Given the description of an element on the screen output the (x, y) to click on. 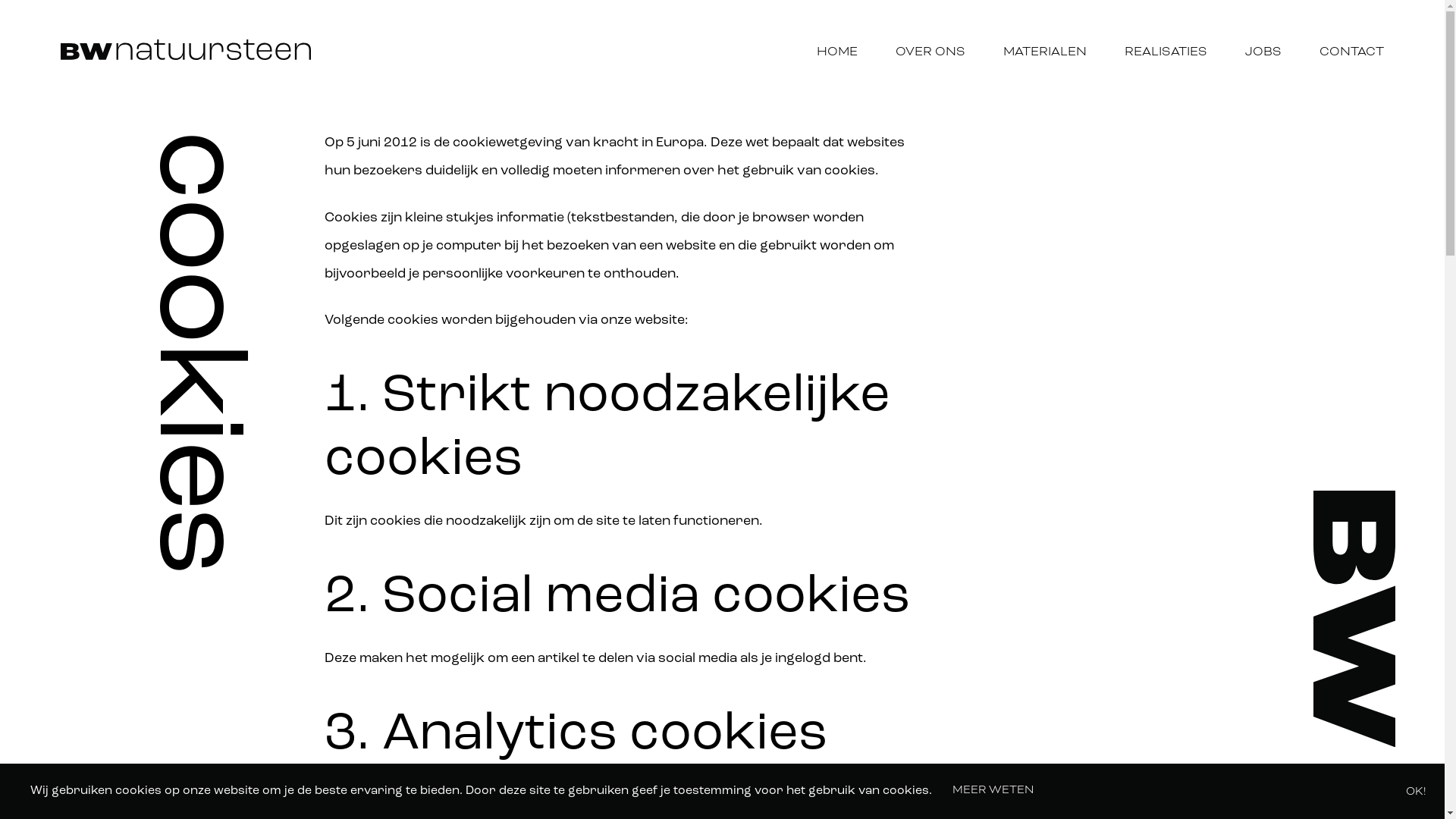
HOME Element type: text (836, 51)
OVER ONS Element type: text (930, 51)
JOBS Element type: text (1263, 51)
Overslaan en naar de inhoud gaan Element type: text (0, 0)
MEER WETEN Element type: text (984, 790)
OK! Element type: text (1406, 790)
REALISATIES Element type: text (1165, 51)
MATERIALEN Element type: text (1044, 51)
CONTACT Element type: text (1351, 51)
